Given the description of an element on the screen output the (x, y) to click on. 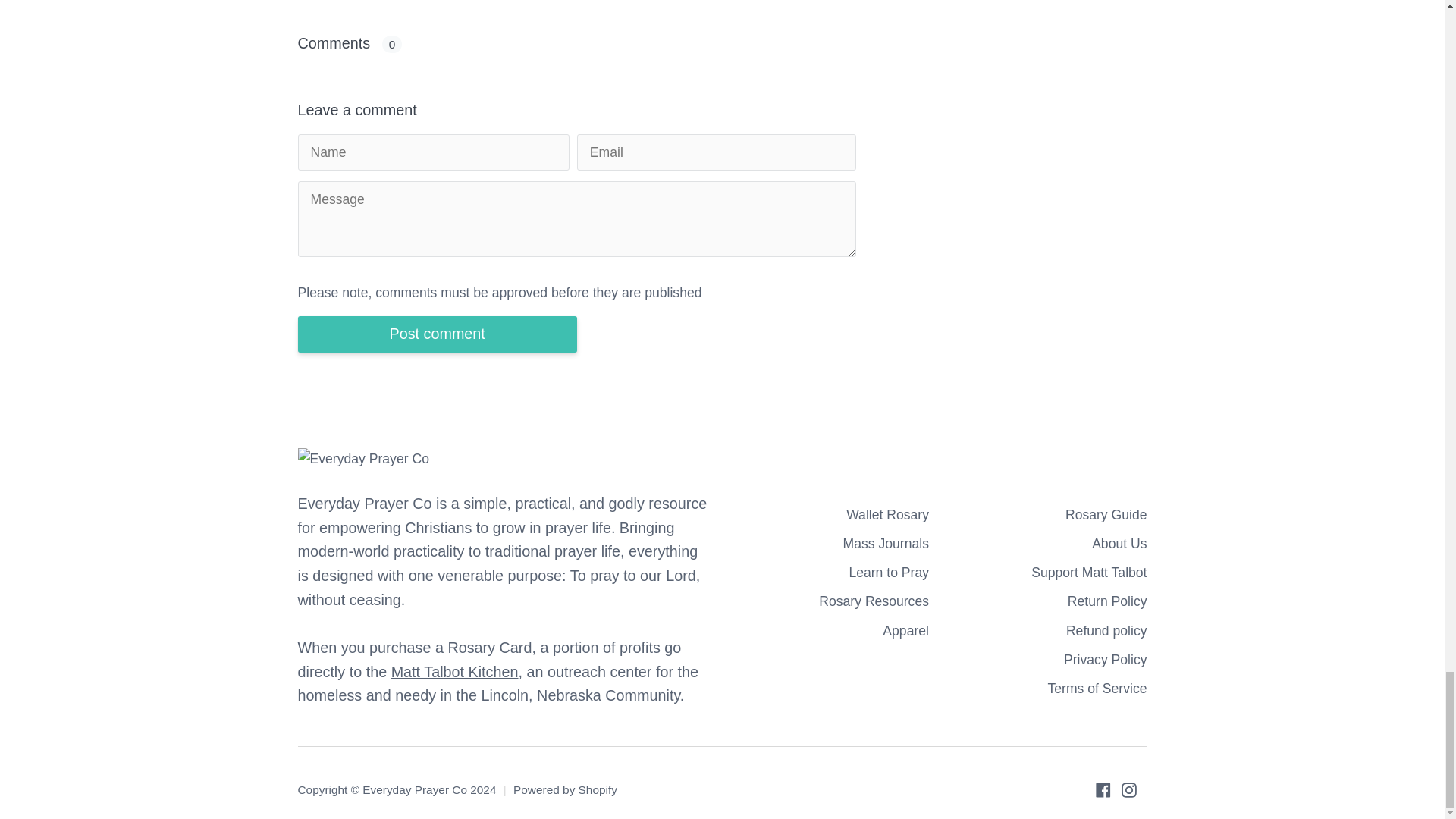
Post comment (436, 334)
Everyday Prayer Co on Facebook (1101, 789)
Everyday Prayer Co on Instagram (1128, 789)
